Given the description of an element on the screen output the (x, y) to click on. 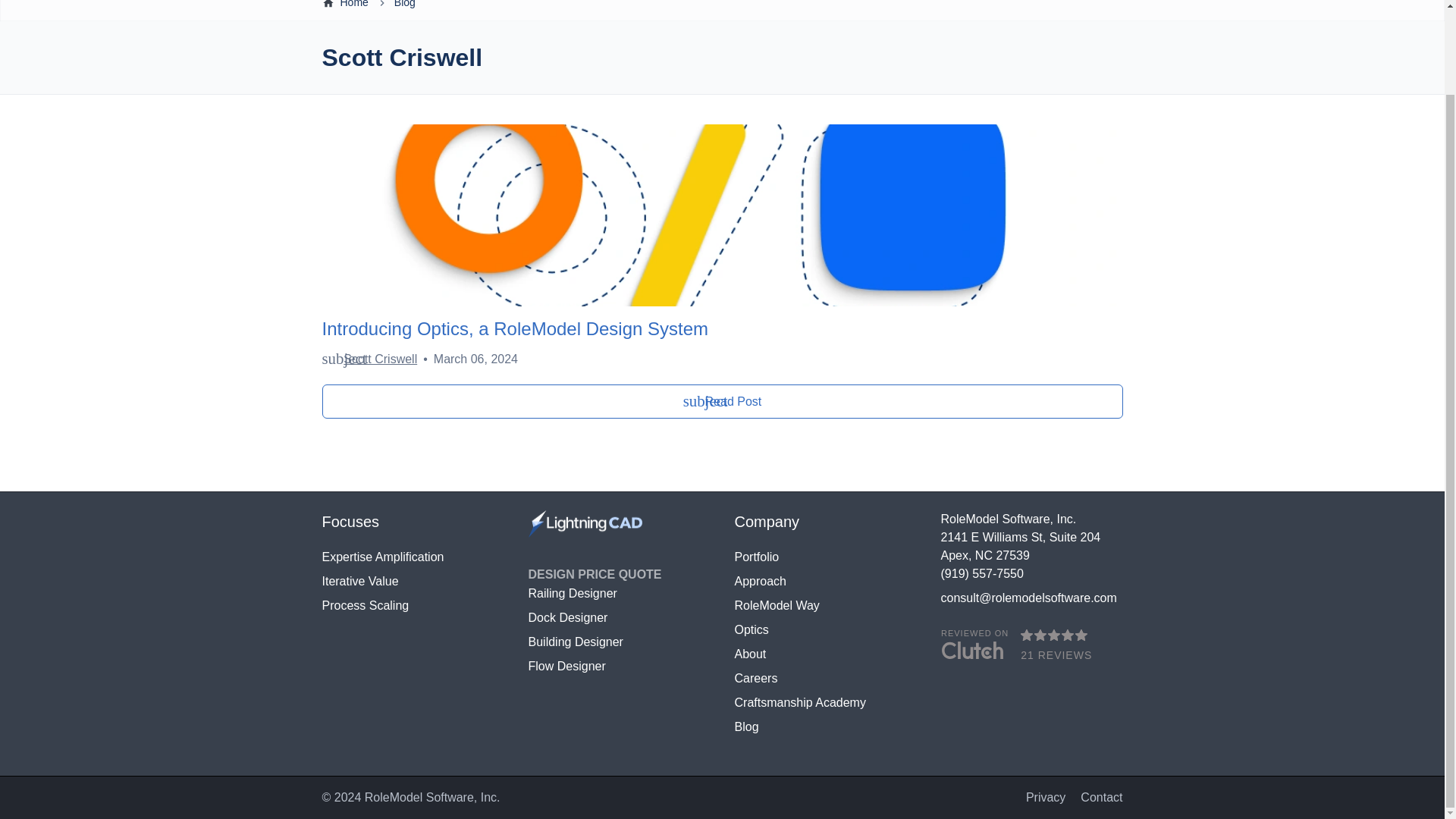
DESIGN PRICE QUOTE (594, 574)
Approach (824, 581)
Scott Criswell (379, 358)
Building Designer (618, 642)
Railing Designer (618, 593)
Iterative Value (412, 581)
Flow Designer (618, 666)
Dock Designer (618, 618)
Home (353, 7)
Introducing Optics, a RoleModel Design System (721, 329)
Blog (405, 7)
RoleModel Way (824, 606)
Portfolio (824, 556)
RoleModel Software Clutch Review Widget 2 (1031, 645)
